Given the description of an element on the screen output the (x, y) to click on. 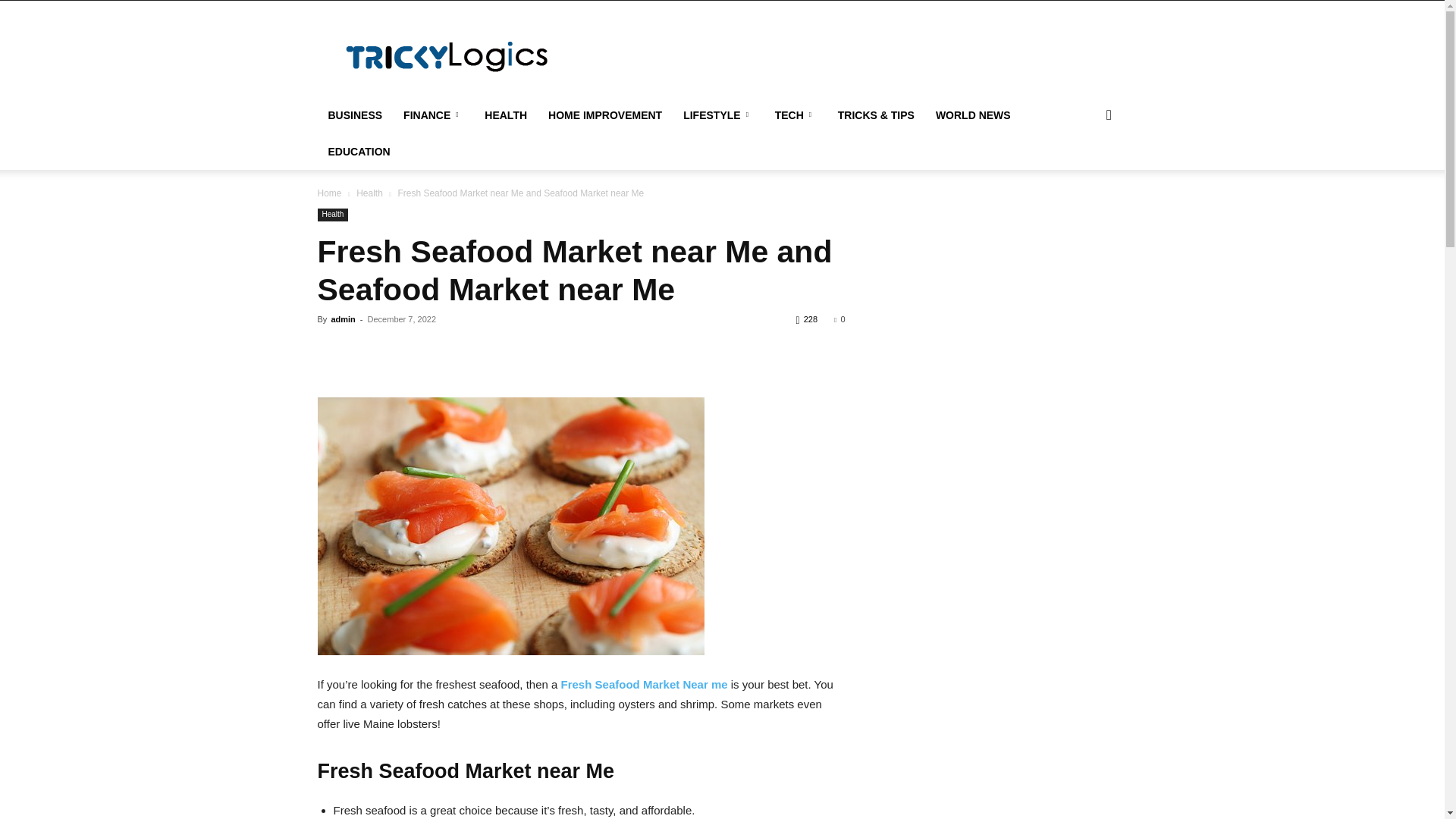
WORLD NEWS (973, 115)
BUSINESS (355, 115)
Search (1085, 175)
Health (332, 214)
Home (328, 193)
FINANCE (433, 115)
EDUCATION (358, 151)
Health (369, 193)
TECH (795, 115)
LIFESTYLE (717, 115)
HOME IMPROVEMENT (604, 115)
admin (342, 318)
HEALTH (505, 115)
View all posts in Health (369, 193)
